Given the description of an element on the screen output the (x, y) to click on. 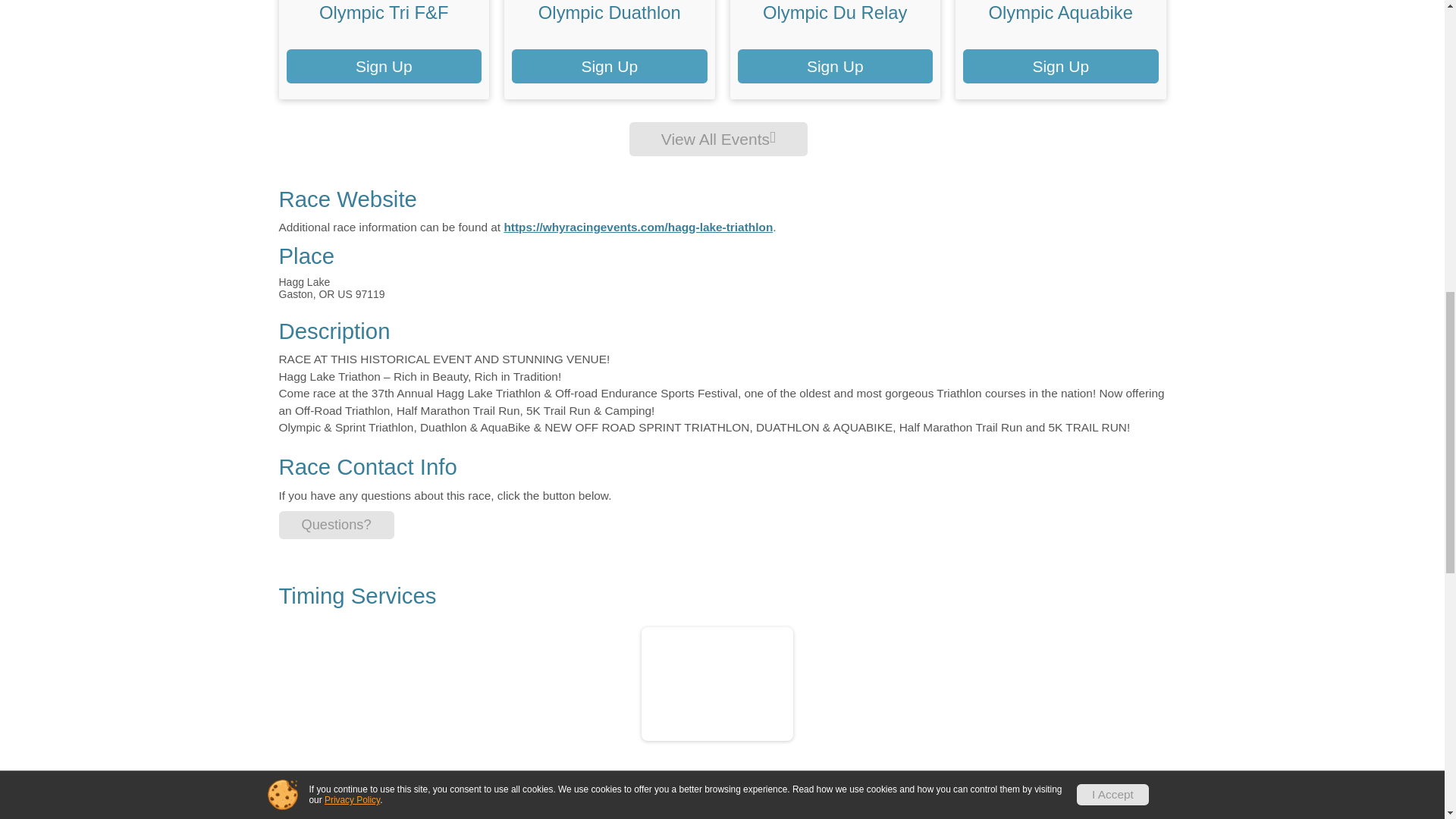
Olympic Du Relay (834, 12)
View All Events (718, 139)
Sign Up (1060, 66)
Olympic Aquabike (1060, 12)
Olympic Duathlon (609, 12)
Sign Up (834, 66)
Questions? (336, 524)
Sign Up (609, 66)
Sign Up (383, 66)
